Given the description of an element on the screen output the (x, y) to click on. 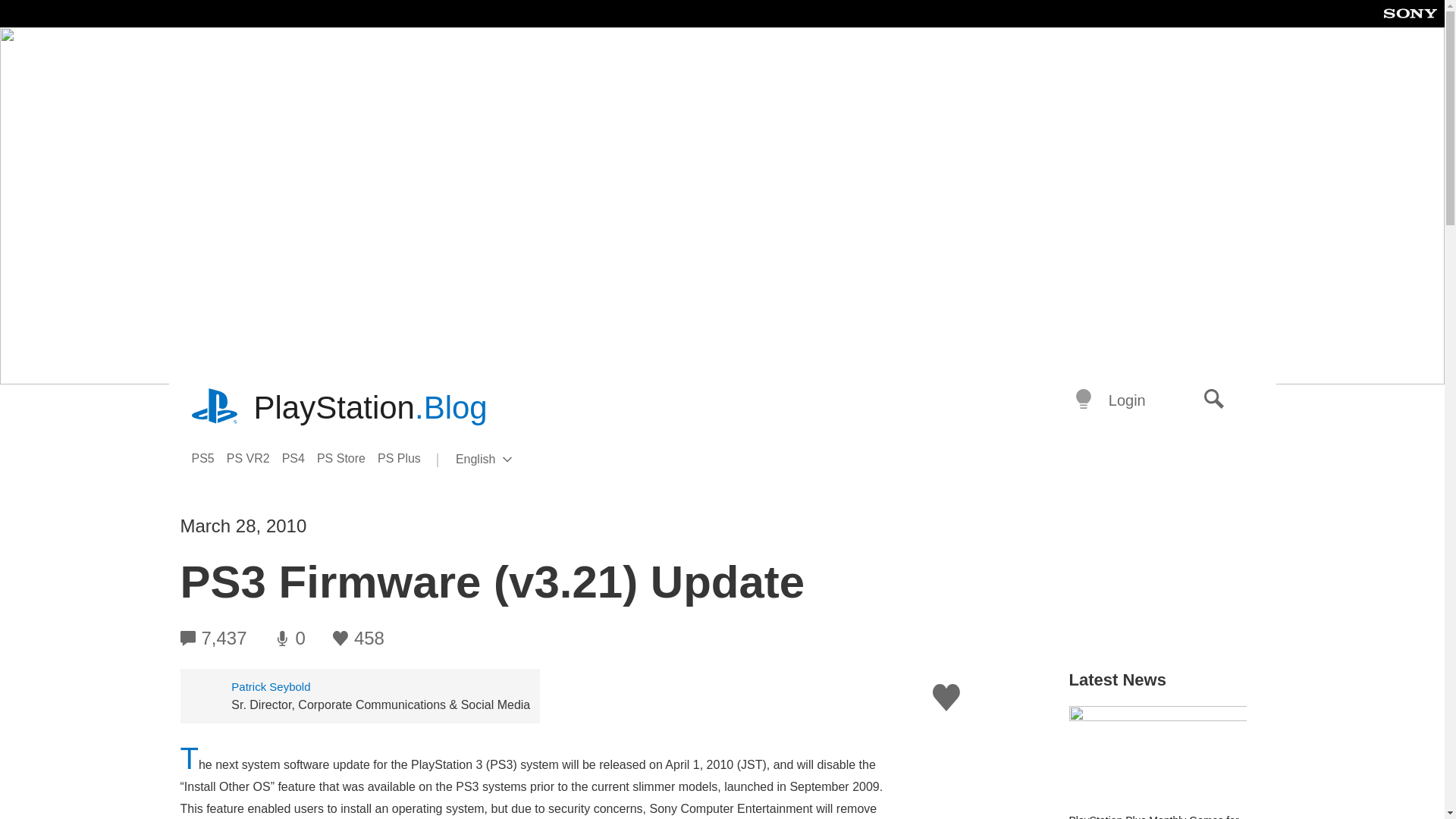
PS VR2 (254, 458)
PS Store (347, 458)
playstation.com (215, 408)
PS4 (299, 458)
PS Plus (404, 458)
PlayStation.Blog (369, 407)
Search (1214, 400)
Login (1126, 400)
PS5 (207, 458)
Like this (946, 697)
